Given the description of an element on the screen output the (x, y) to click on. 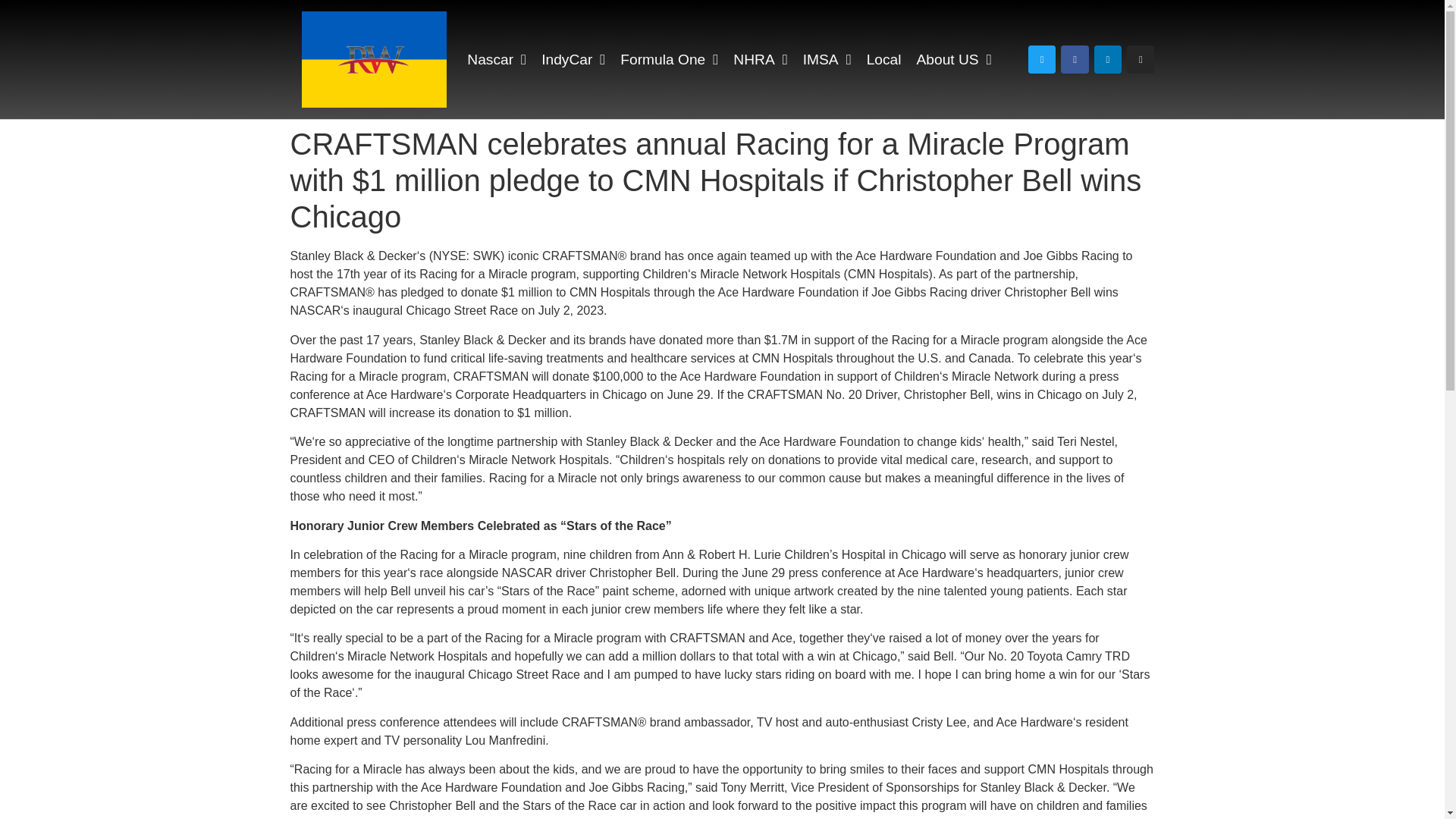
Nascar (496, 59)
IndyCar (572, 59)
